Given the description of an element on the screen output the (x, y) to click on. 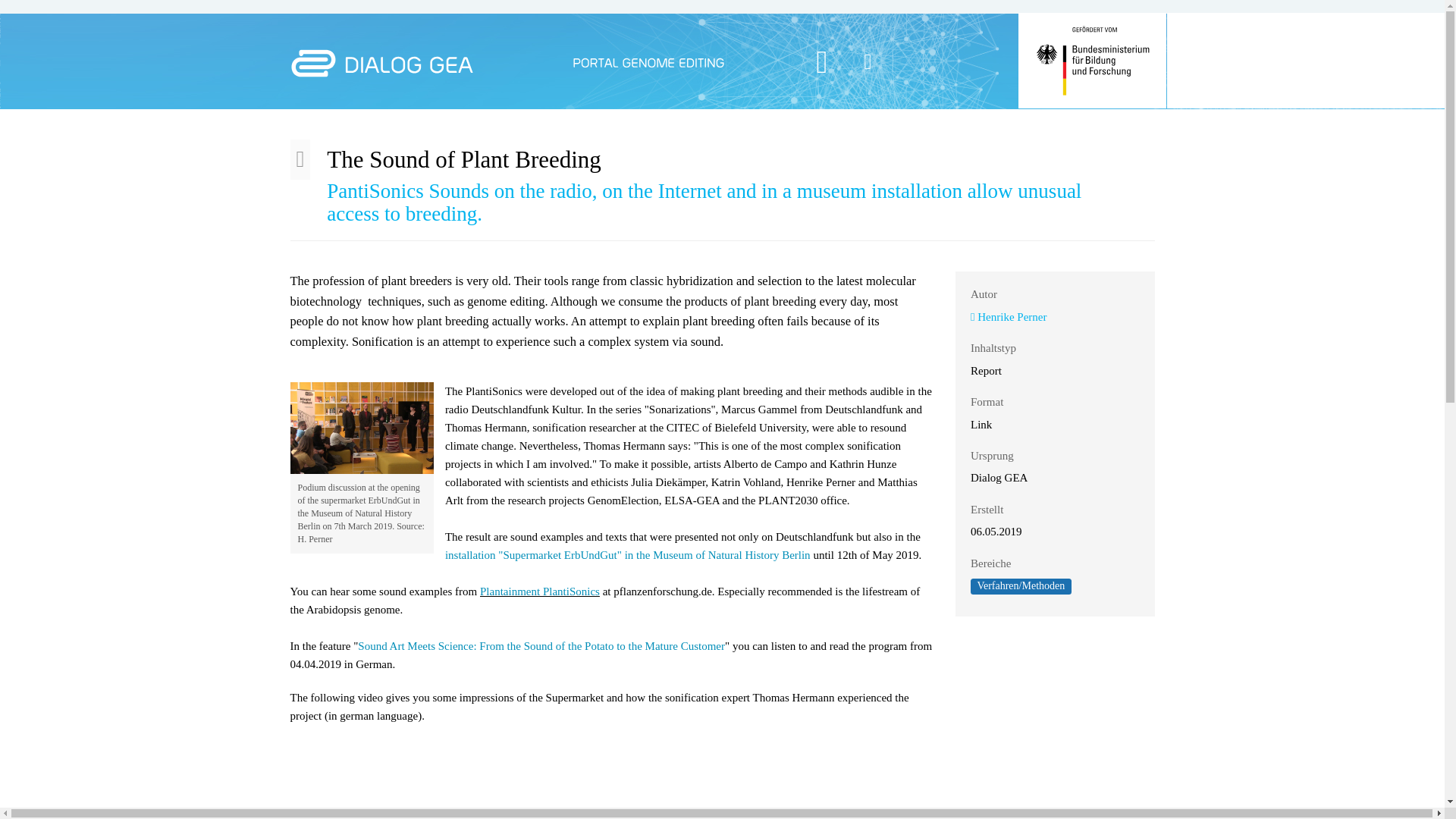
Plantainment PlantiSonics (539, 591)
